Given the description of an element on the screen output the (x, y) to click on. 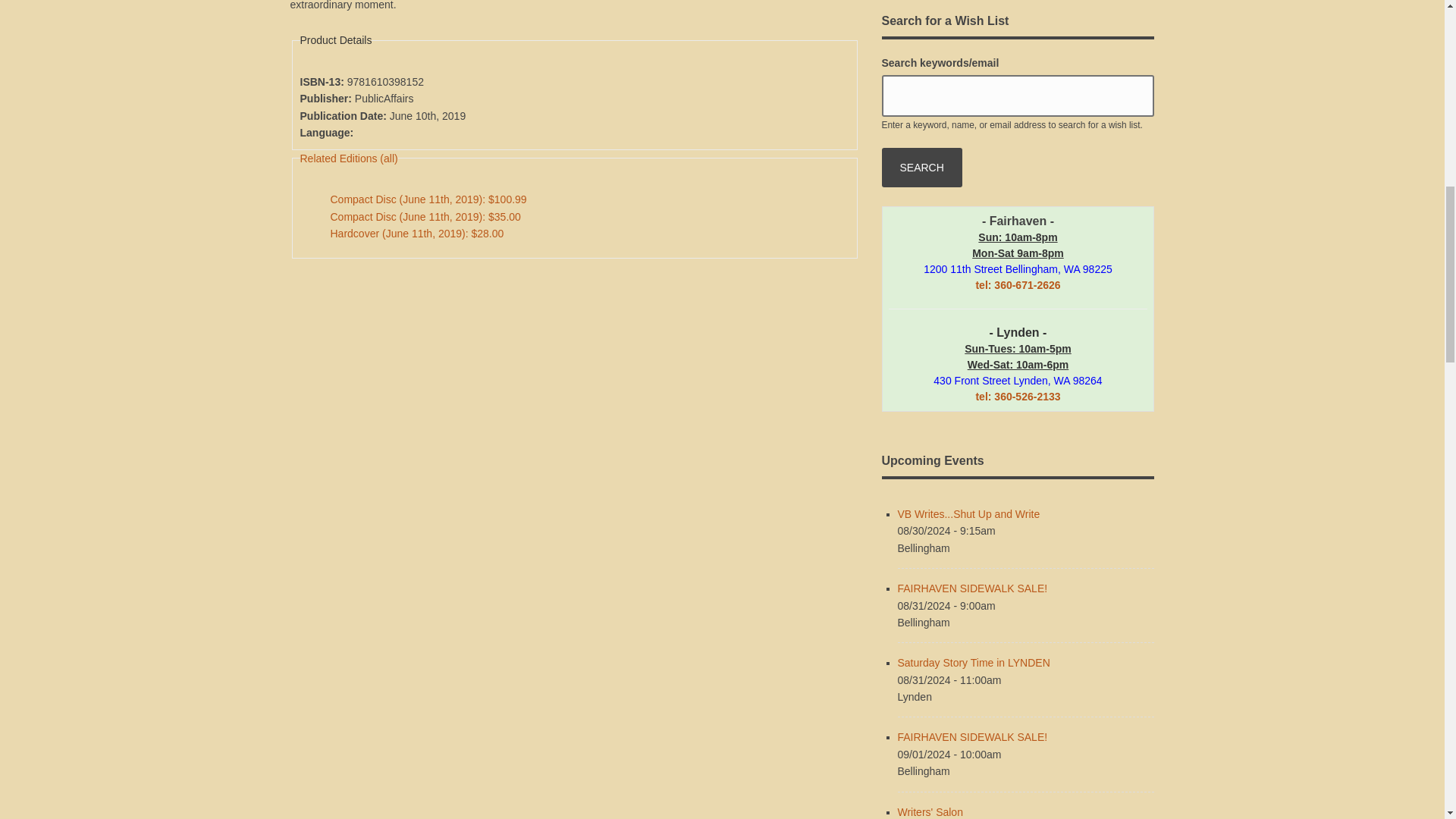
430 Front Street Lynden, WA 98264 (1017, 380)
VB Writes...Shut Up and Write (969, 513)
Search (920, 167)
FAIRHAVEN SIDEWALK SALE! (973, 736)
tel: 360-671-2626 (1017, 285)
tel: 360-526-2133 (1017, 396)
Writers' Salon (930, 811)
Search (920, 167)
FAIRHAVEN SIDEWALK SALE! (973, 588)
Saturday Story Time in LYNDEN (973, 662)
